Given the description of an element on the screen output the (x, y) to click on. 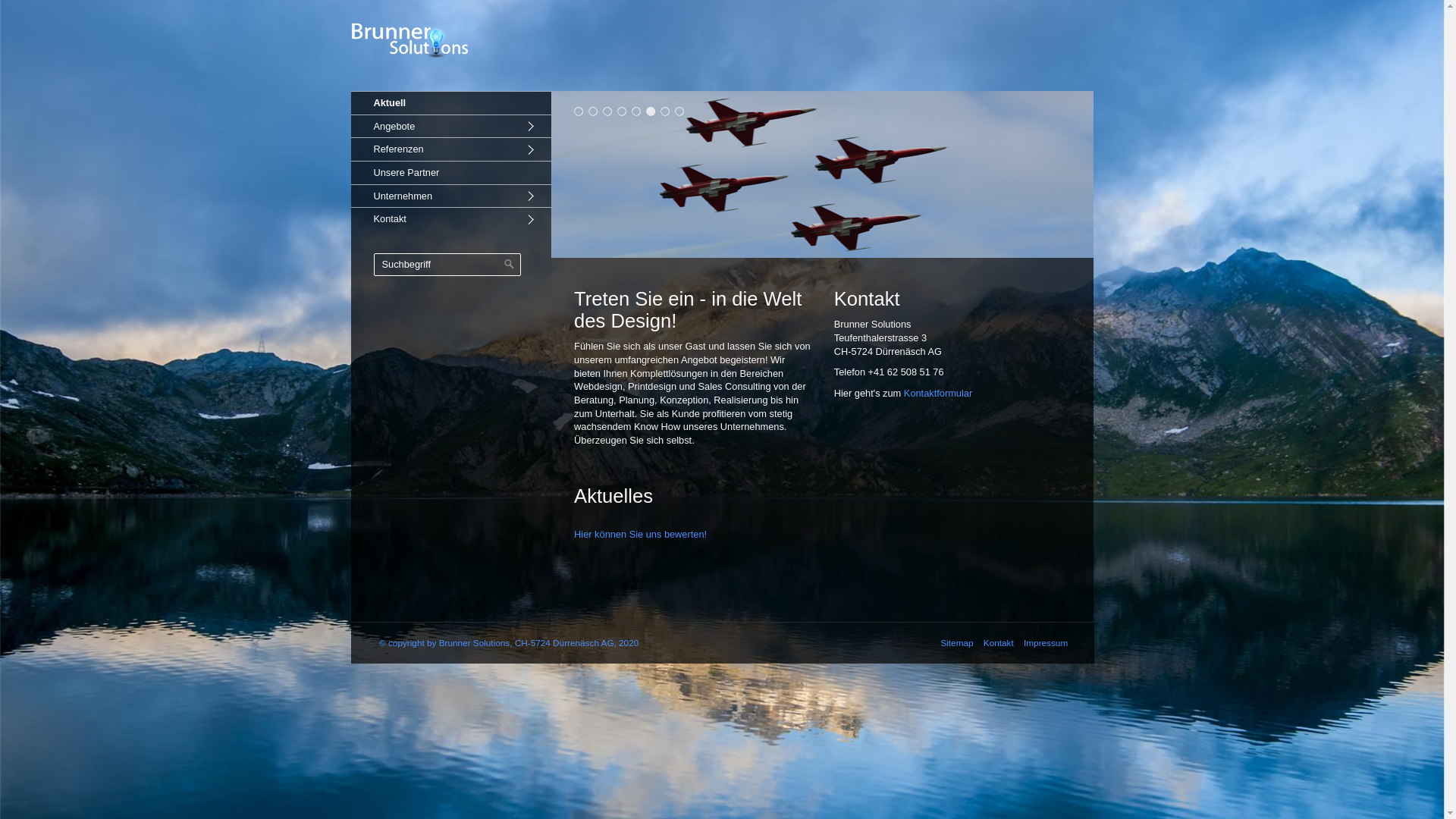
7 Element type: text (665, 111)
3 Element type: text (607, 111)
1 Element type: text (578, 111)
Aktuell Element type: text (450, 102)
5 Element type: text (636, 111)
Kontakt Element type: text (994, 642)
Unsere Partner Element type: text (450, 172)
8 Element type: text (679, 111)
Kontaktformular Element type: text (937, 392)
Angebote Element type: text (450, 126)
6 Element type: text (650, 111)
Unternehmen Element type: text (450, 195)
Impressum  Element type: text (1043, 642)
4 Element type: text (622, 111)
Sitemap Element type: text (952, 642)
Kontakt Element type: text (450, 218)
2 Element type: text (593, 111)
Referenzen Element type: text (450, 148)
